Given the description of an element on the screen output the (x, y) to click on. 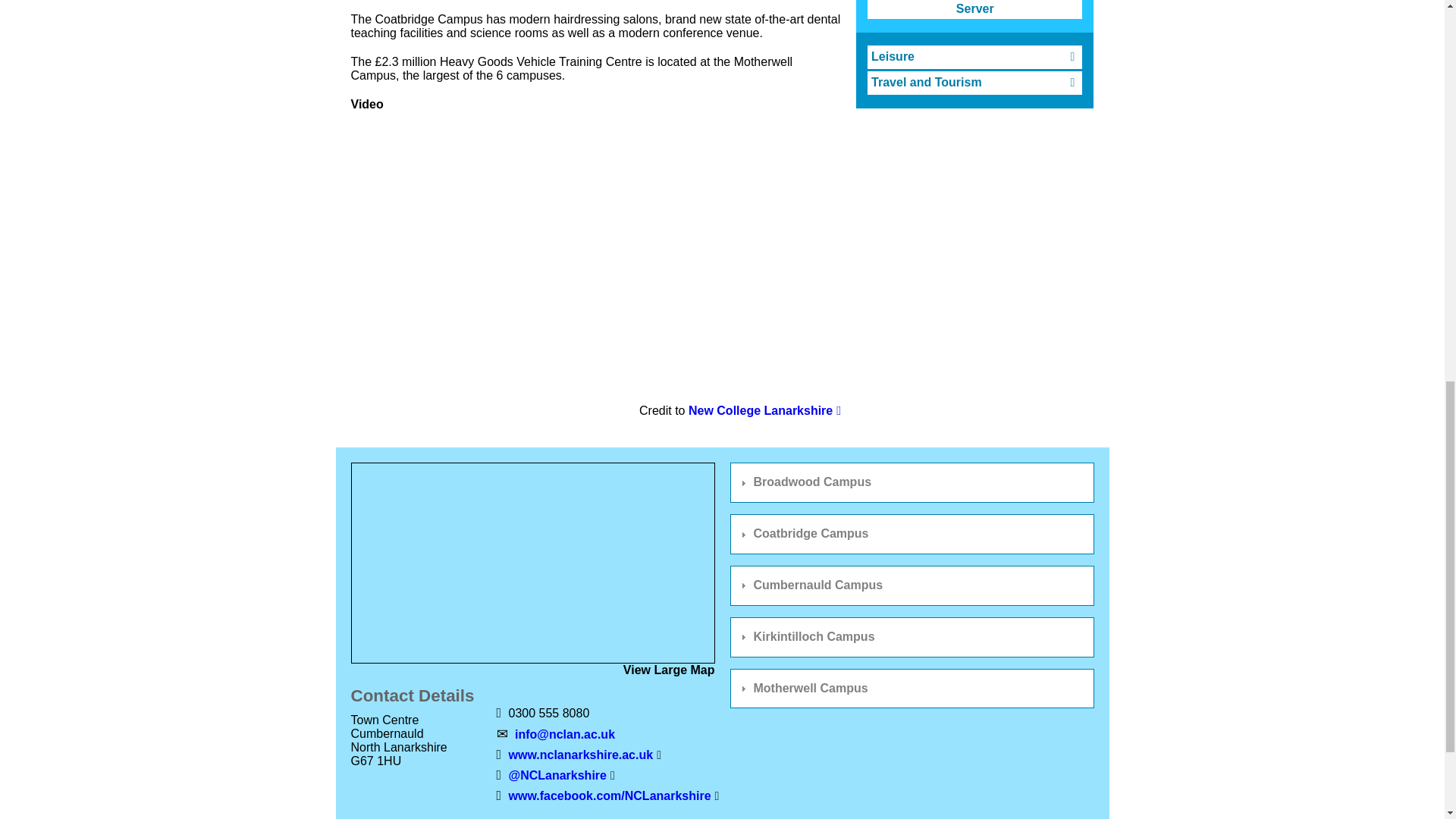
New College Lanarkshire (764, 410)
